Given the description of an element on the screen output the (x, y) to click on. 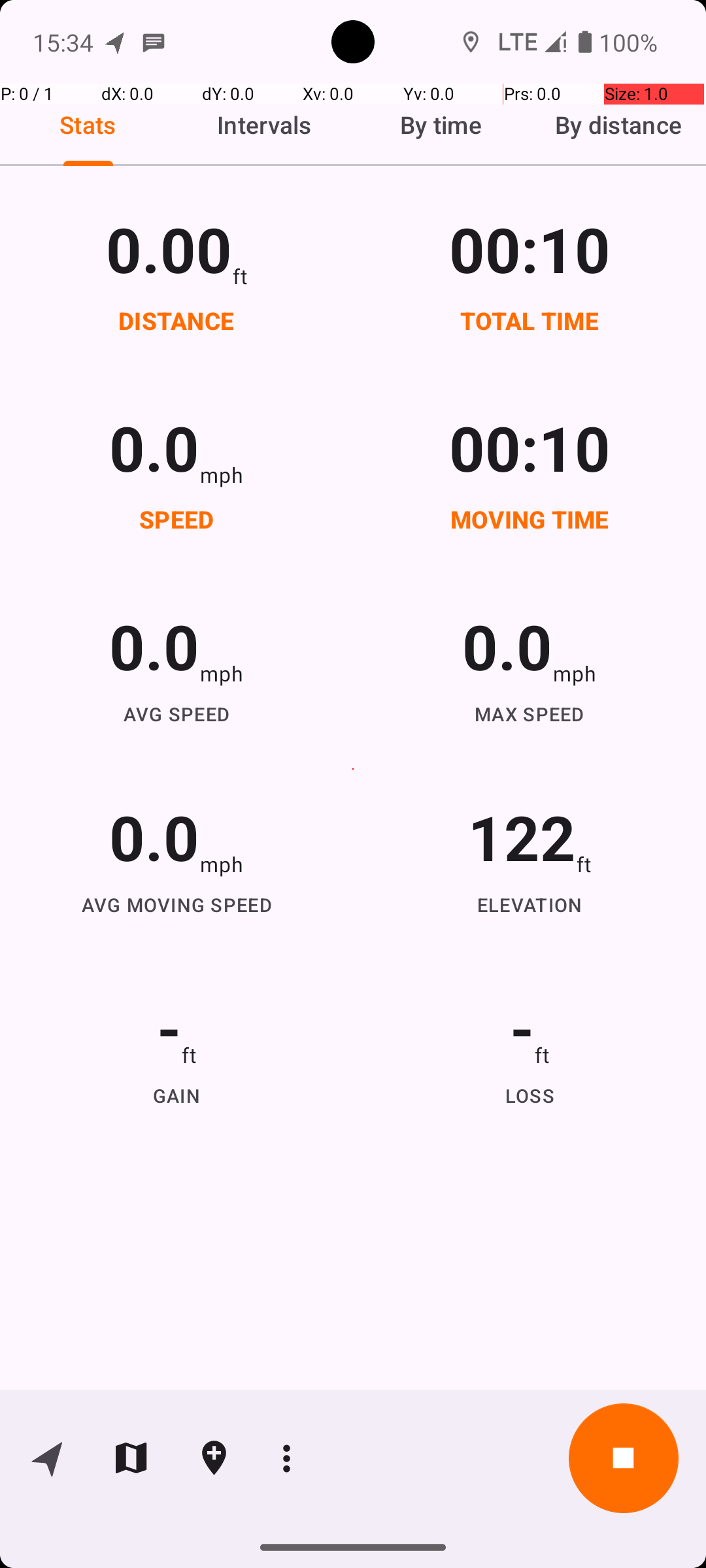
0.00 Element type: android.widget.TextView (168, 248)
00:10 Element type: android.widget.TextView (529, 248)
122 Element type: android.widget.TextView (521, 836)
